Given the description of an element on the screen output the (x, y) to click on. 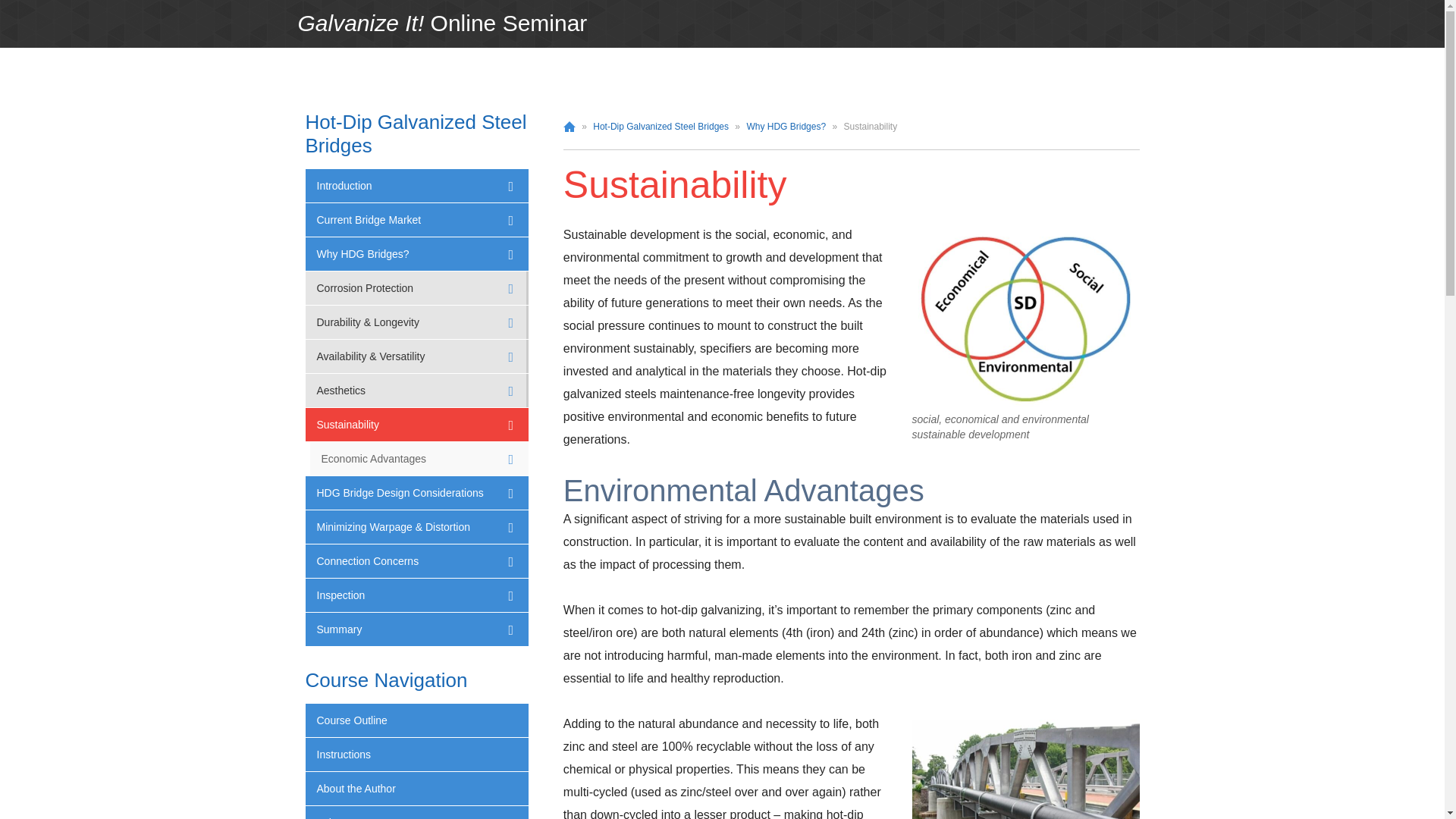
Current Bridge Market (415, 219)
Introduction (415, 185)
Why HDG Bridges? (415, 254)
Economic Advantages (415, 458)
HDG Bridge Design Considerations (415, 492)
Hot-Dip Galvanized Steel Bridges (660, 126)
Hot-Dip Galvanized Steel Bridges (414, 133)
Corrosion Protection (415, 287)
Summary (415, 629)
Why HDG Bridges? (785, 126)
